Given the description of an element on the screen output the (x, y) to click on. 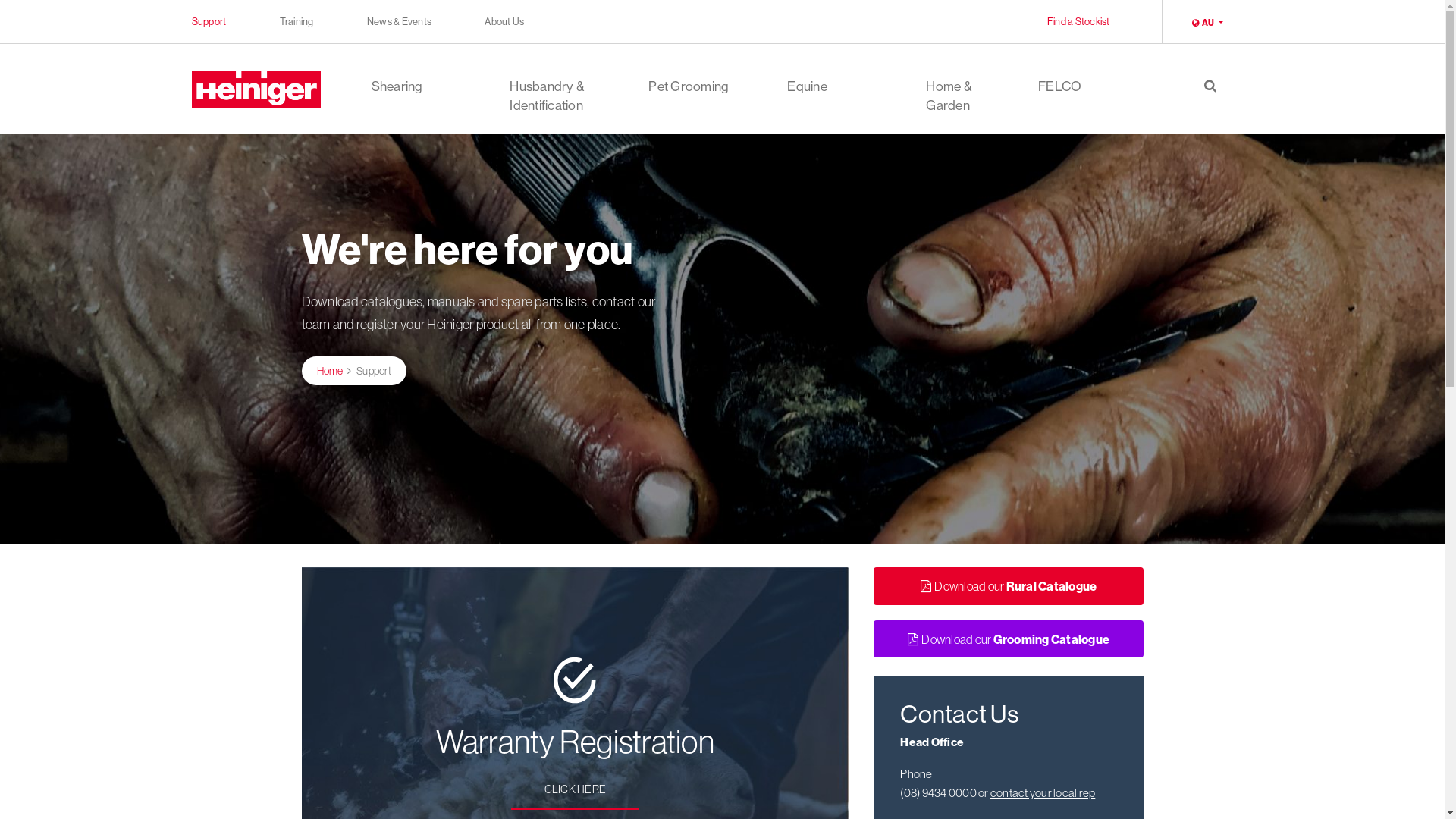
Equine Element type: text (807, 103)
Pet Grooming Element type: text (688, 103)
Husbandry & Identification Element type: text (551, 103)
About Us Element type: text (504, 21)
 Download our Rural Catalogue Element type: text (1007, 586)
Heiniger Element type: text (255, 88)
LOCALE
AU Element type: text (1207, 22)
contact your local rep Element type: text (1042, 792)
 Download our Grooming Catalogue Element type: text (1007, 639)
Home Element type: text (329, 370)
Find a Stockist Element type: text (1078, 21)
Training Element type: text (296, 21)
Support Element type: text (208, 21)
Search Element type: text (1210, 102)
Shearing Element type: text (397, 103)
News & Events Element type: text (399, 21)
Home & Garden Element type: text (967, 103)
FELCO Element type: text (1059, 103)
